Given the description of an element on the screen output the (x, y) to click on. 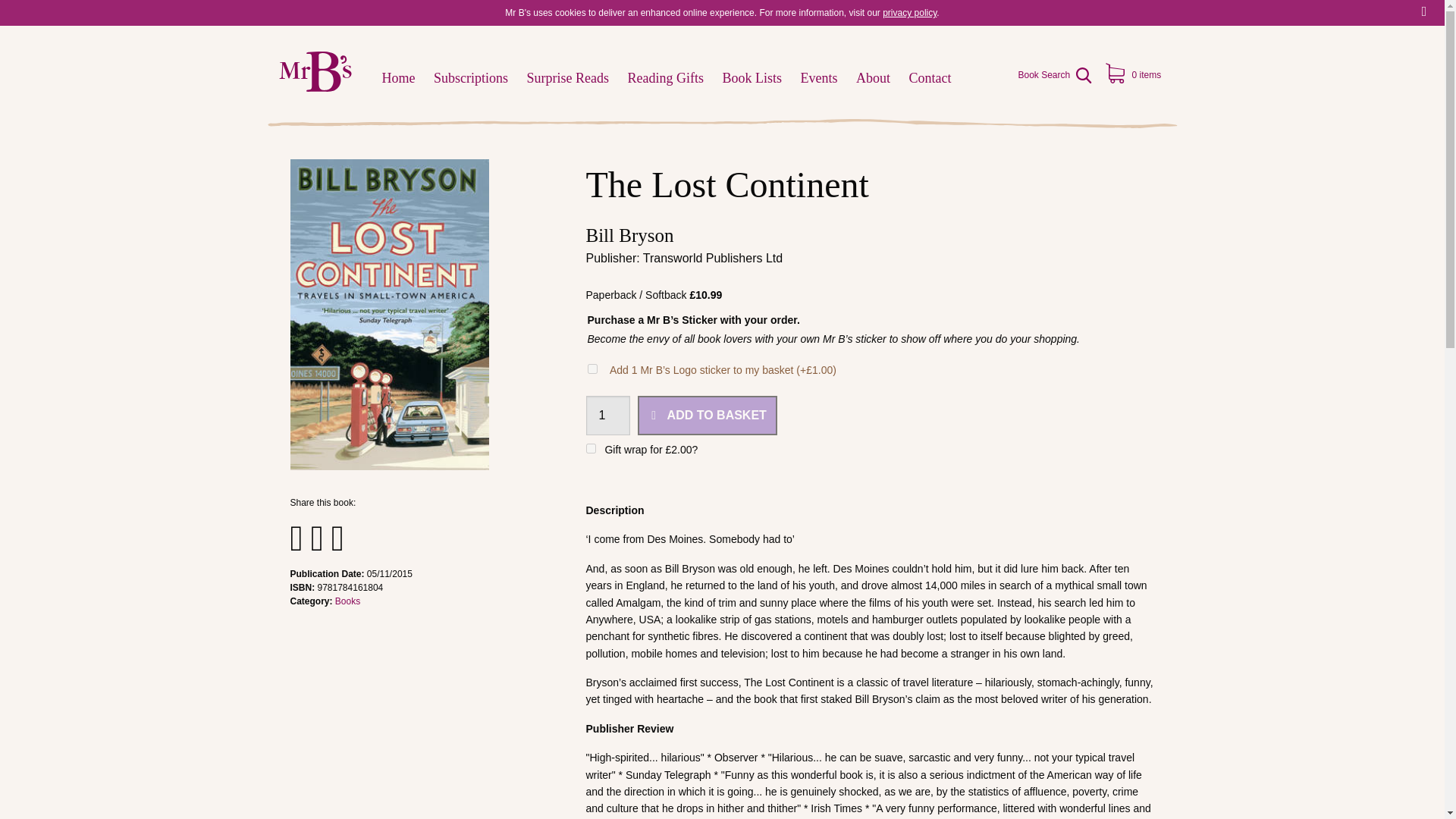
About (873, 78)
privacy policy (909, 12)
Surprise Reads (567, 78)
Book Lists (751, 78)
add-1-mr-bs-logo-sticker-to-my-basket (591, 368)
Click to share on Facebook (295, 537)
View your shopping cart (1135, 75)
Books (346, 601)
Reading Gifts (665, 78)
Events (819, 78)
Contact (930, 78)
0 items (1135, 75)
Click to share on Pinterest (337, 537)
ADD TO BASKET (707, 414)
yes (590, 448)
